Given the description of an element on the screen output the (x, y) to click on. 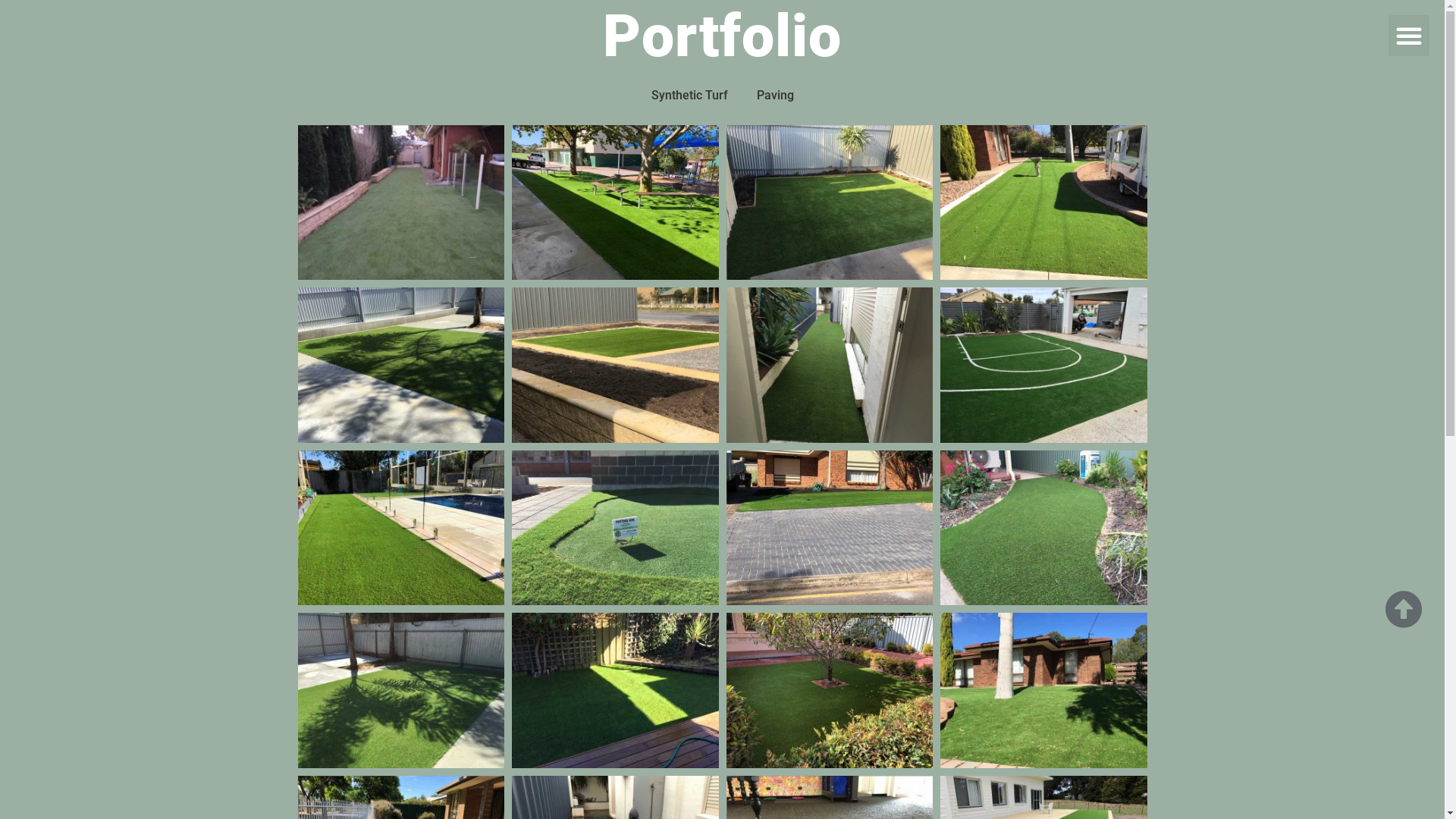
Synthetic Turf Element type: text (688, 95)
Paving Element type: text (775, 95)
